Given the description of an element on the screen output the (x, y) to click on. 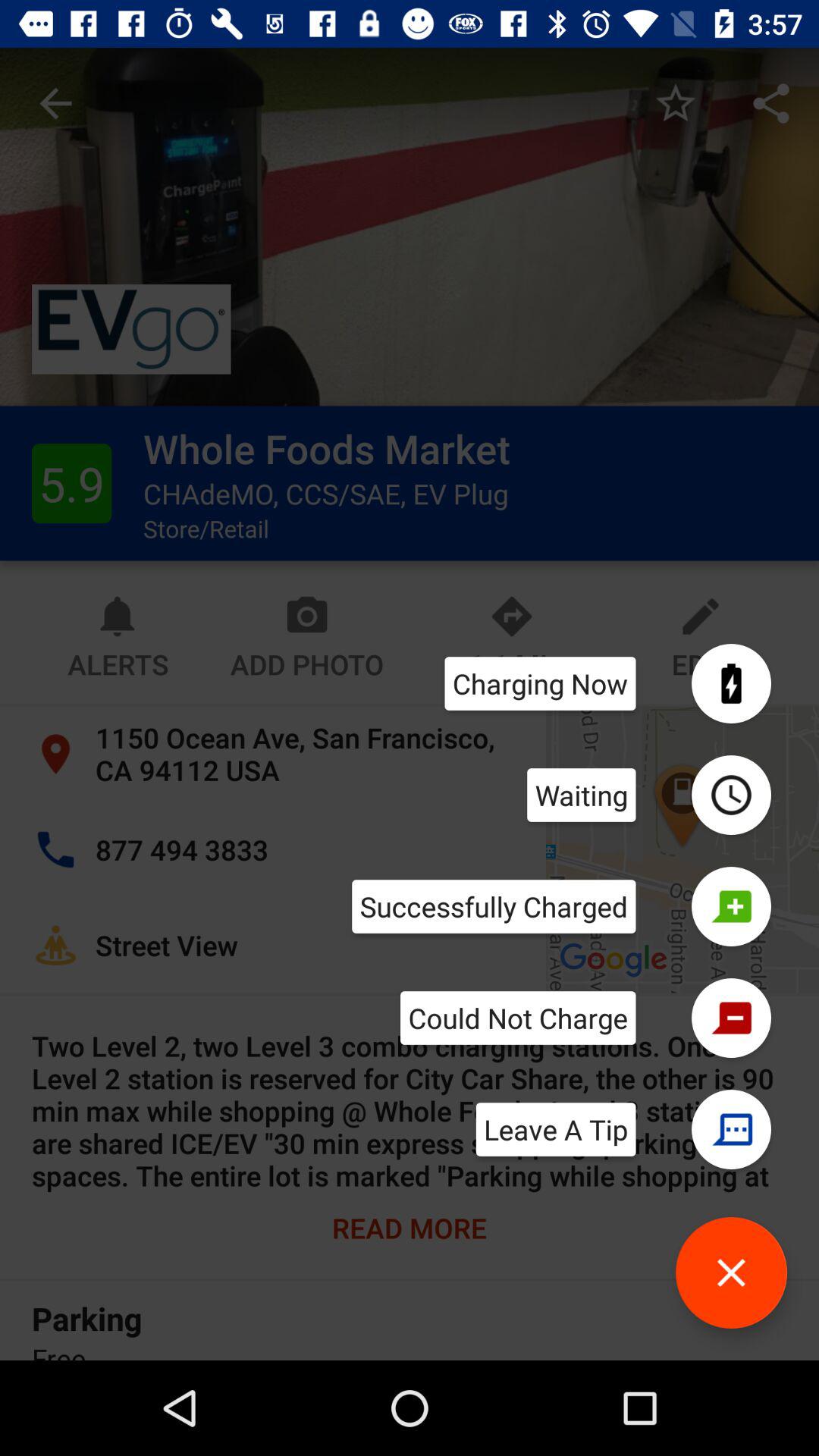
flip to the successfully charged icon (493, 906)
